Given the description of an element on the screen output the (x, y) to click on. 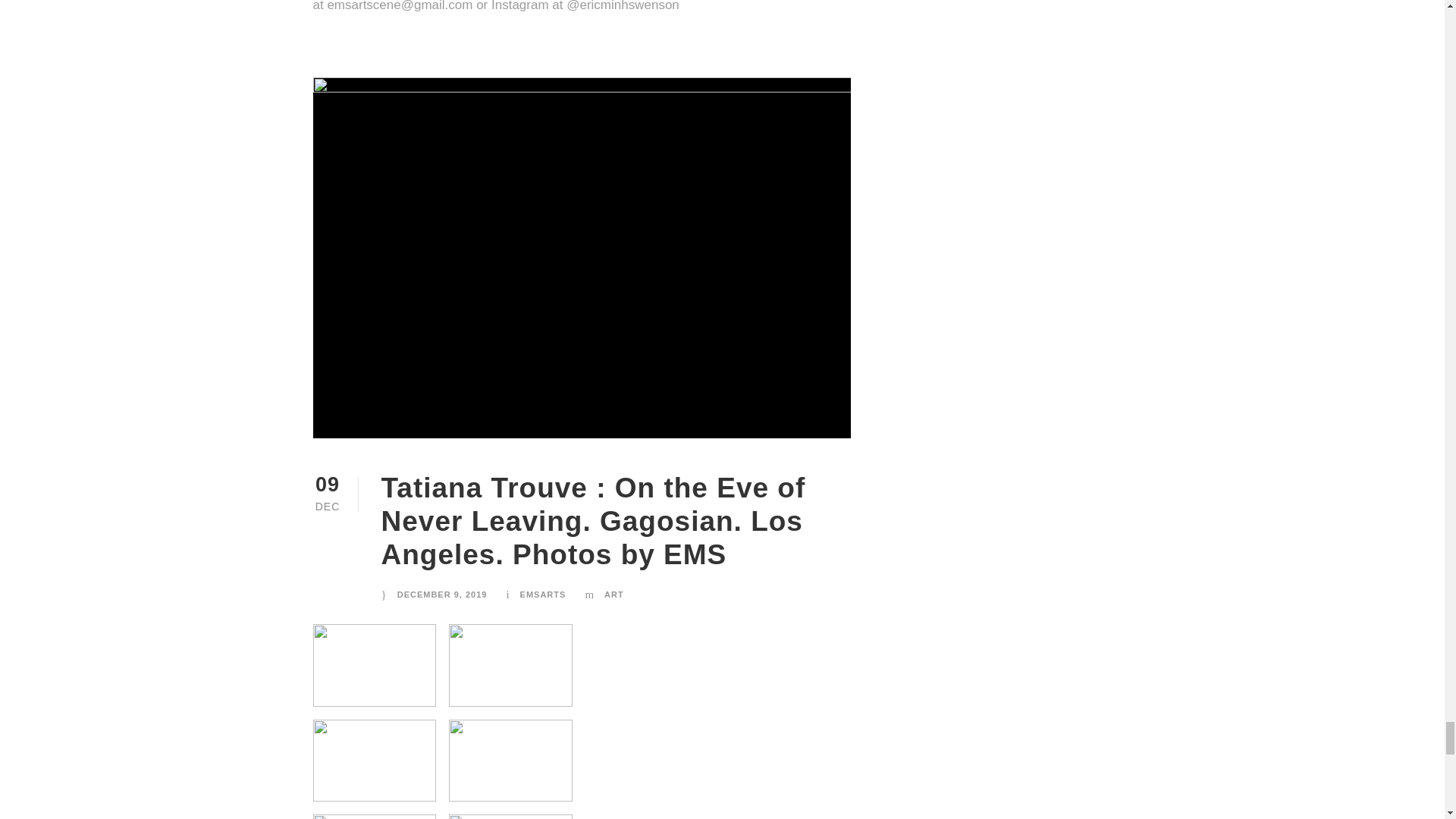
Posts by emsarts (542, 593)
